Given the description of an element on the screen output the (x, y) to click on. 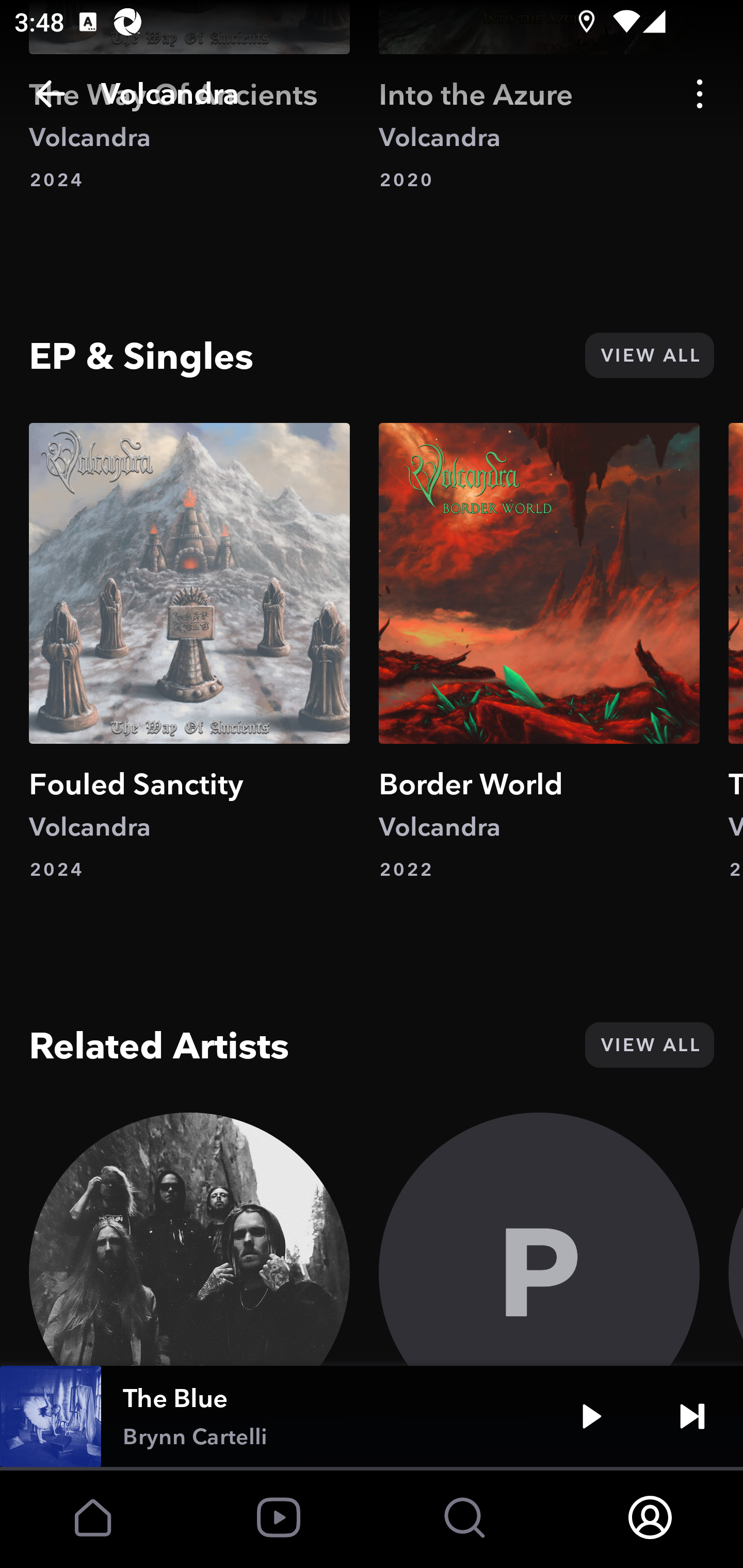
Options (699, 93)
VIEW ALL (649, 354)
Fouled Sanctity Volcandra 2024 (188, 652)
Border World Volcandra 2022 (538, 652)
VIEW ALL (649, 1044)
P (538, 1239)
The Blue Brynn Cartelli Play (371, 1416)
Play (590, 1416)
